Given the description of an element on the screen output the (x, y) to click on. 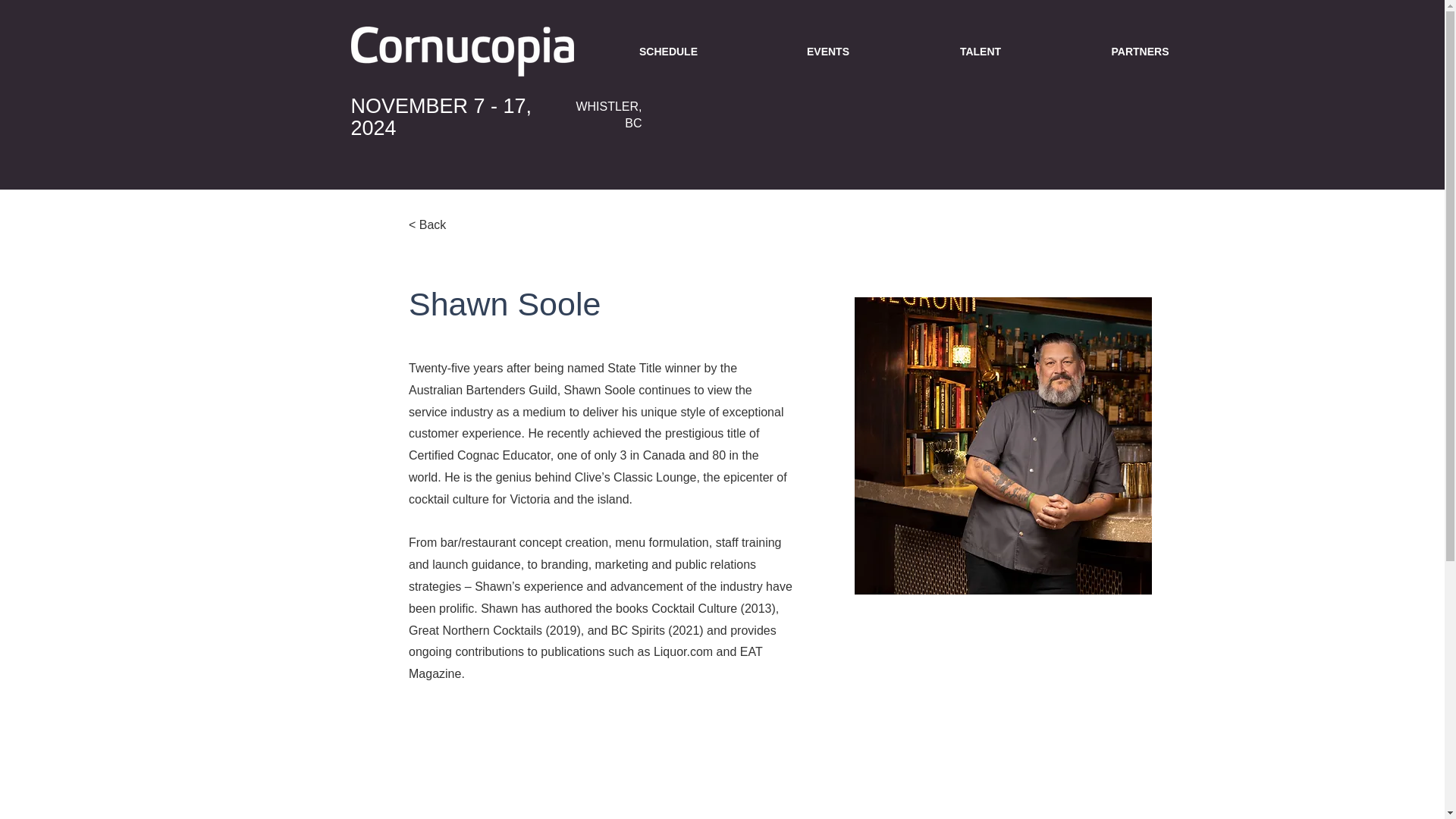
EVENTS (828, 51)
WHISTLER, BC (608, 114)
SCHEDULE (668, 51)
TALENT (980, 51)
image002.jpg (1002, 445)
NOVEMBER 7 - 17, 2024 (440, 115)
PARTNERS (1140, 51)
